Given the description of an element on the screen output the (x, y) to click on. 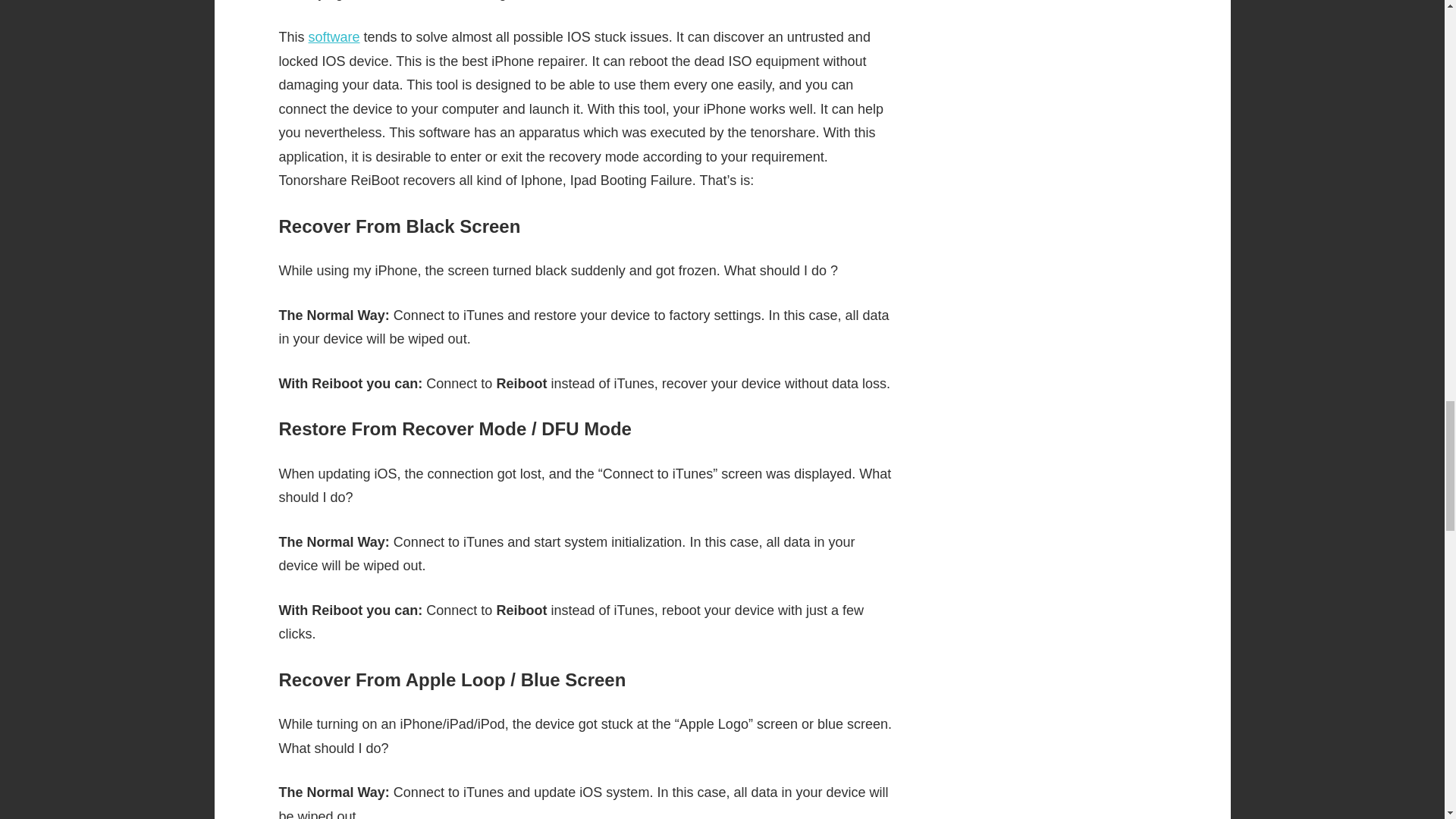
software (333, 37)
